Given the description of an element on the screen output the (x, y) to click on. 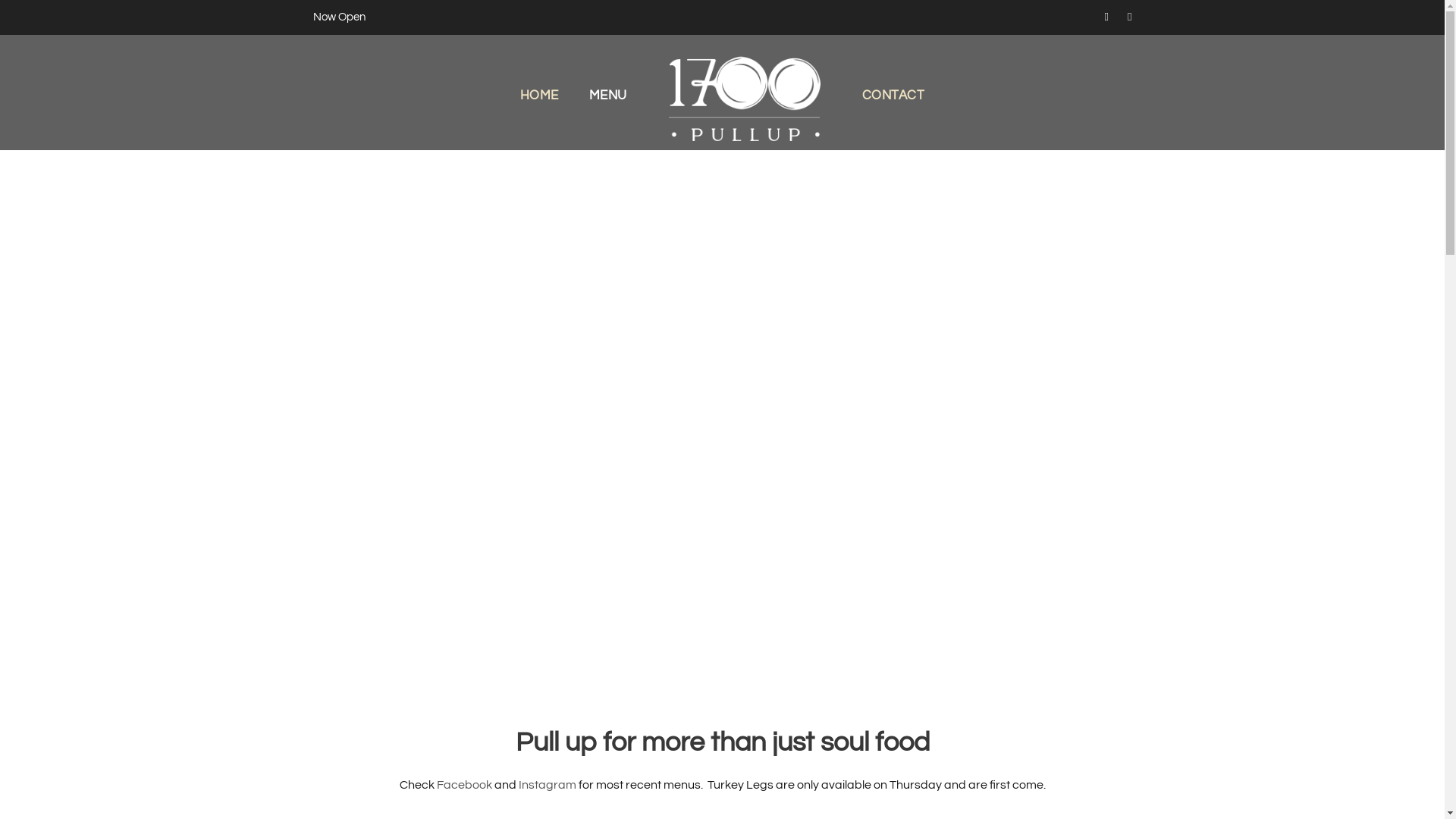
Facebook Element type: text (464, 784)
Instagram Element type: text (547, 784)
HOME Element type: text (539, 117)
1700 PULL UP logo (1)-whitesmall Element type: hover (744, 94)
MENU Element type: text (608, 117)
instagram Element type: hover (1129, 16)
facebook Element type: hover (1106, 16)
CONTACT Element type: text (893, 117)
